Given the description of an element on the screen output the (x, y) to click on. 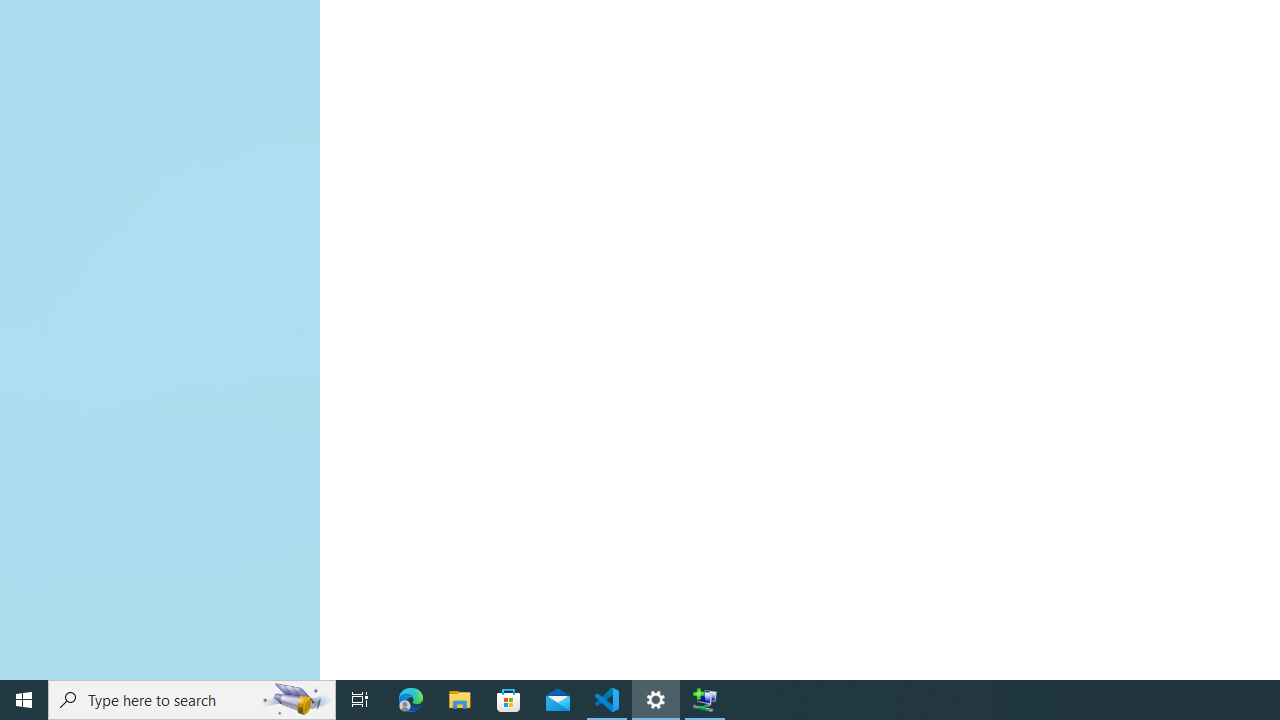
Settings - 1 running window (656, 699)
Extensible Wizards Host Process - 1 running window (704, 699)
